Given the description of an element on the screen output the (x, y) to click on. 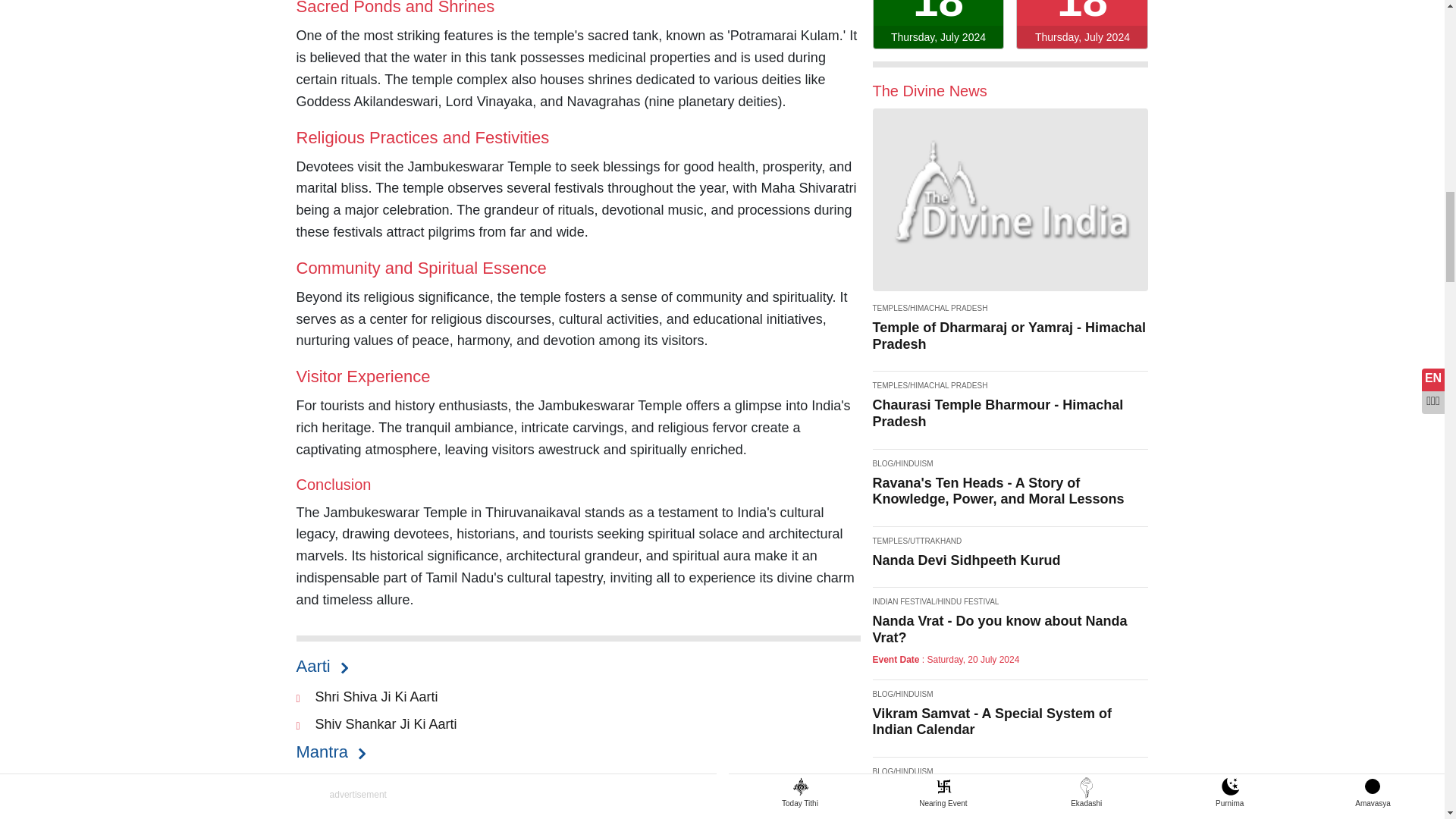
Aarti (320, 665)
Shiv Shankar Ji Ki Aarti (386, 724)
Shri Shiva Ji Ki Aarti (376, 696)
Shiva Moola Mantra (375, 809)
Mantra (328, 751)
Shri Shiva Ji Ki Aarti (376, 696)
Shiv Shankar Ji Ki Aarti (386, 724)
Shiva Moola Mantra (375, 809)
